Given the description of an element on the screen output the (x, y) to click on. 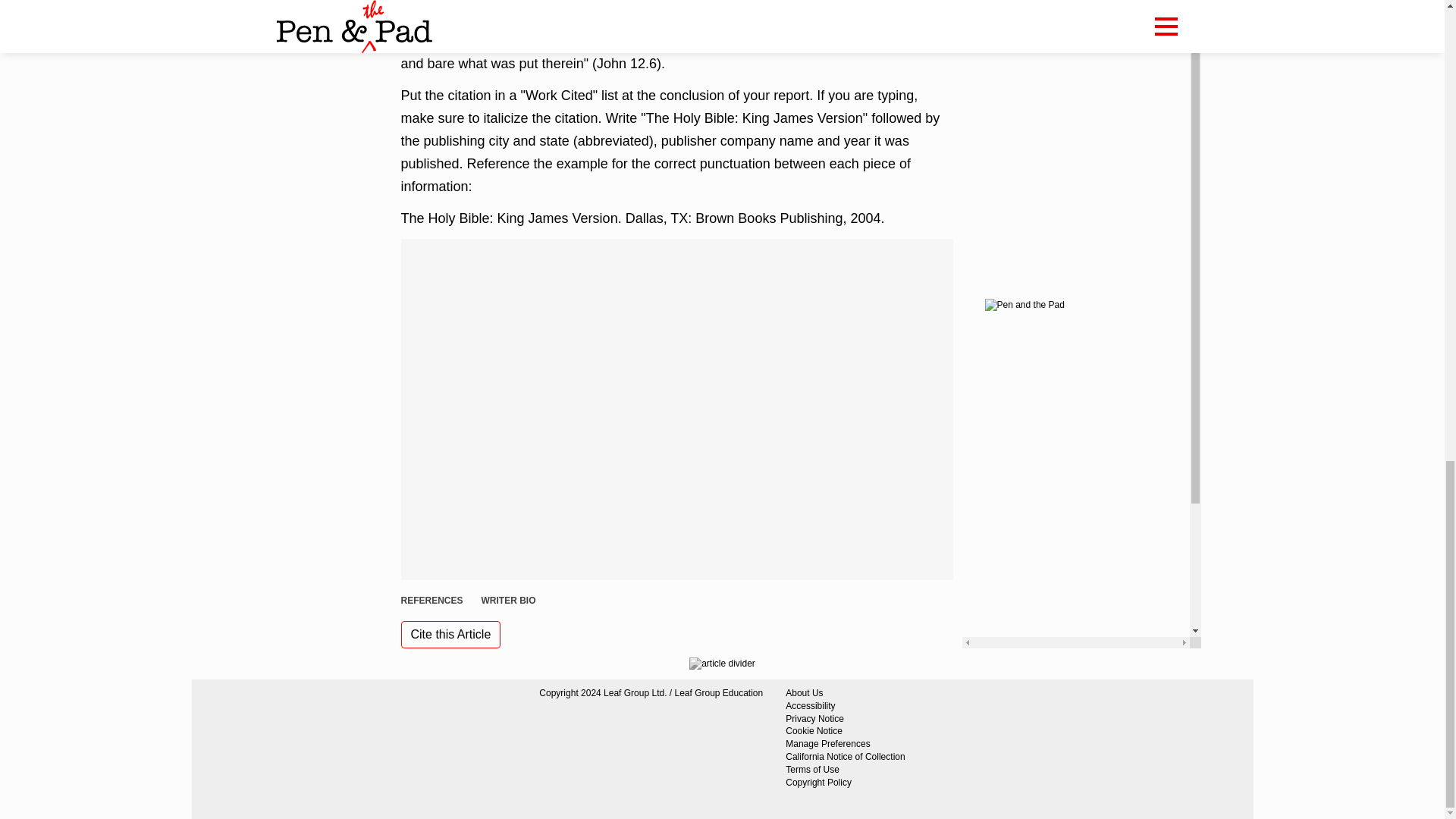
Cite this Article (450, 634)
Terms of Use (845, 769)
Accessibility (845, 706)
Copyright Policy (845, 782)
California Notice of Collection (845, 757)
Manage Preferences (845, 744)
Privacy Notice (845, 718)
About Us (845, 693)
Cookie Notice (845, 730)
